Given the description of an element on the screen output the (x, y) to click on. 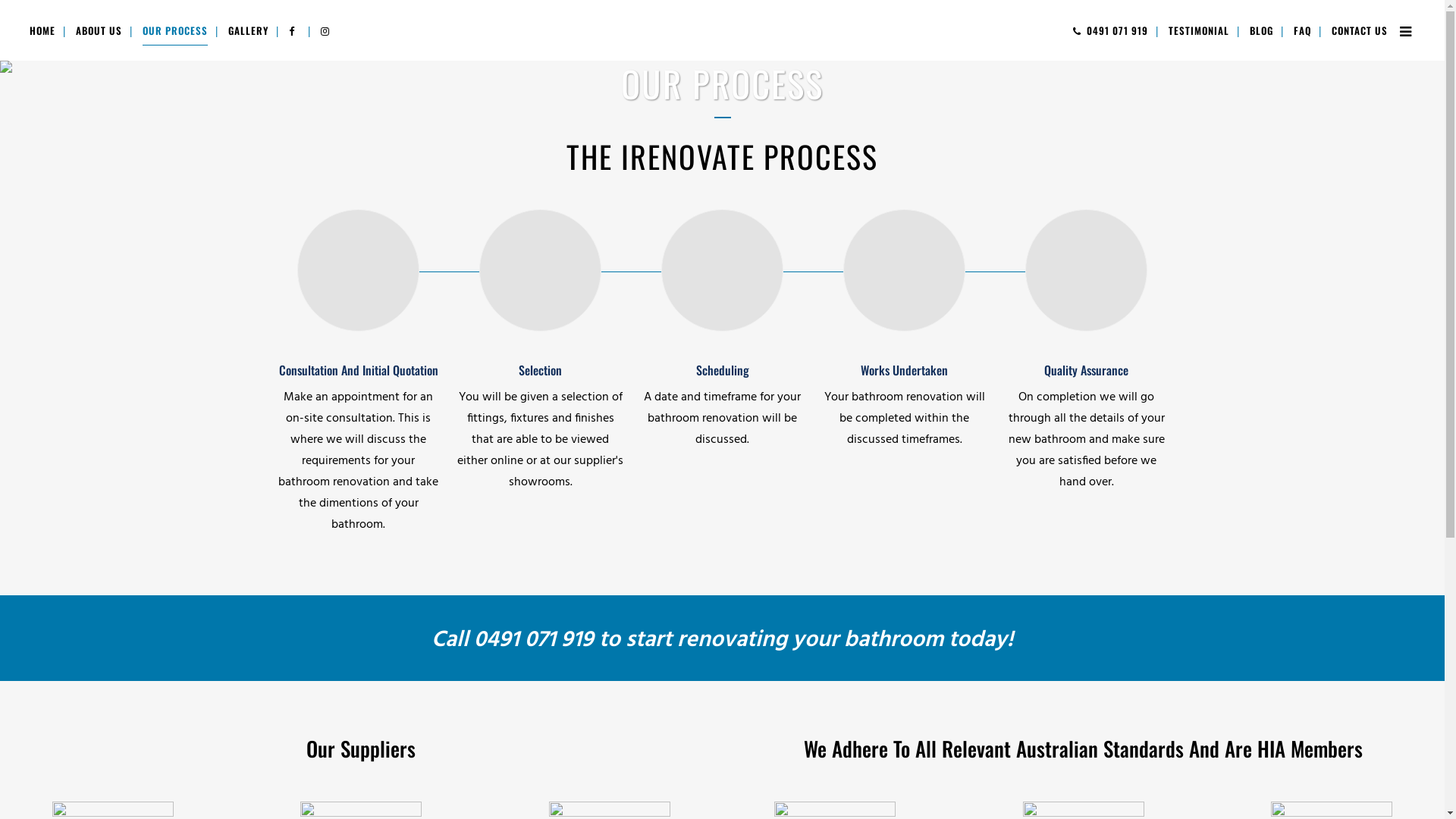
HOME Element type: text (42, 30)
ABOUT US Element type: text (98, 30)
0491 071 919 Element type: text (533, 639)
TESTIMONIAL Element type: text (1198, 30)
FAQ Element type: text (1302, 30)
0491 071 919 Element type: text (1110, 30)
CONTACT US Element type: text (1359, 30)
GALLERY Element type: text (248, 30)
OUR PROCESS Element type: text (174, 30)
BLOG Element type: text (1261, 30)
